Given the description of an element on the screen output the (x, y) to click on. 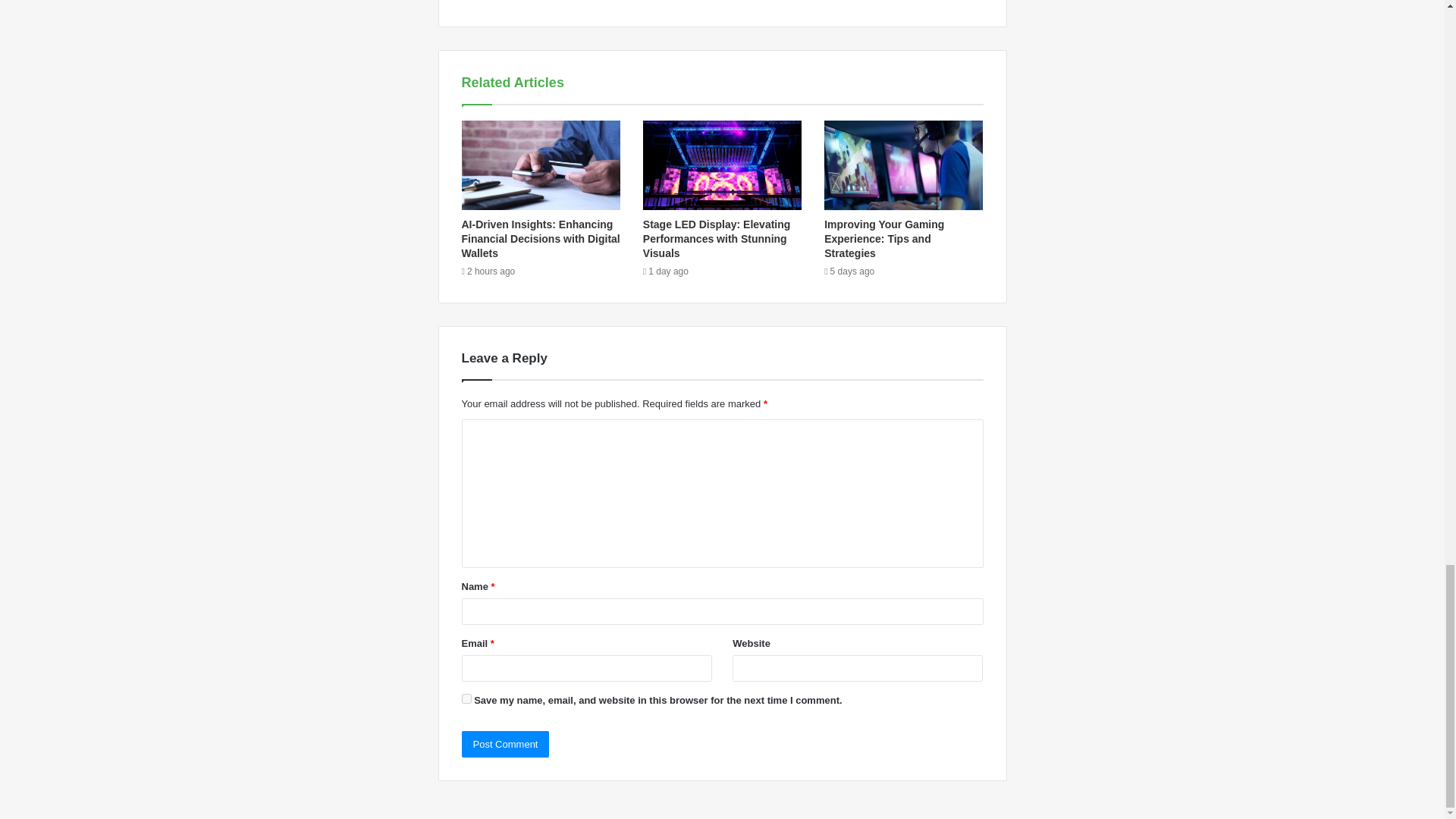
Post Comment (504, 744)
yes (465, 698)
